Given the description of an element on the screen output the (x, y) to click on. 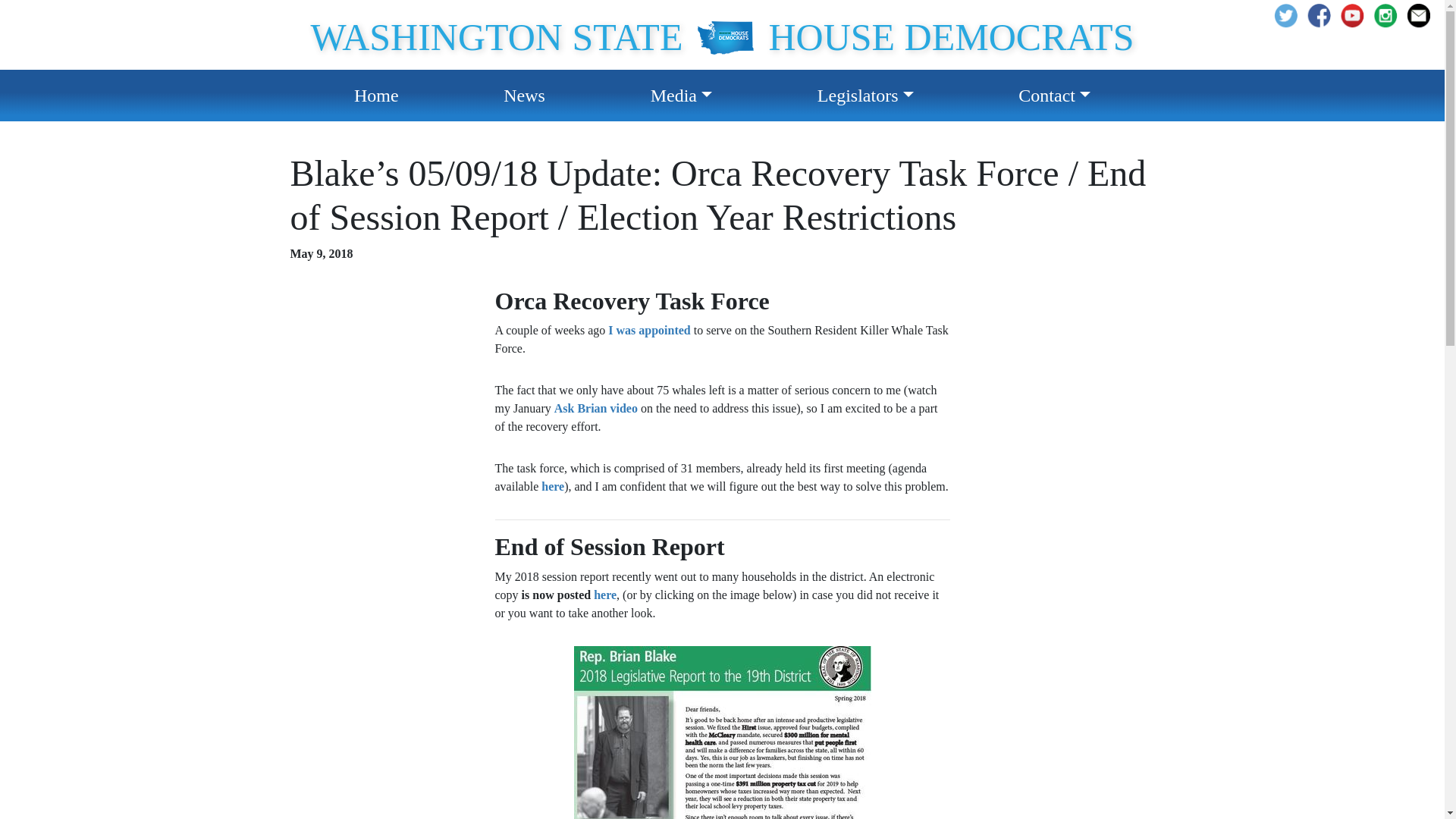
Home (376, 95)
Ask Brian video (595, 408)
Legislators (865, 95)
Legislators (865, 95)
News (523, 95)
Contact (1054, 95)
Media (680, 95)
here (552, 486)
I was appointed (649, 329)
Media (680, 95)
YouTube (1357, 15)
here (604, 594)
Instagram (1424, 15)
Facebook (1323, 15)
Twitter (1290, 15)
